Given the description of an element on the screen output the (x, y) to click on. 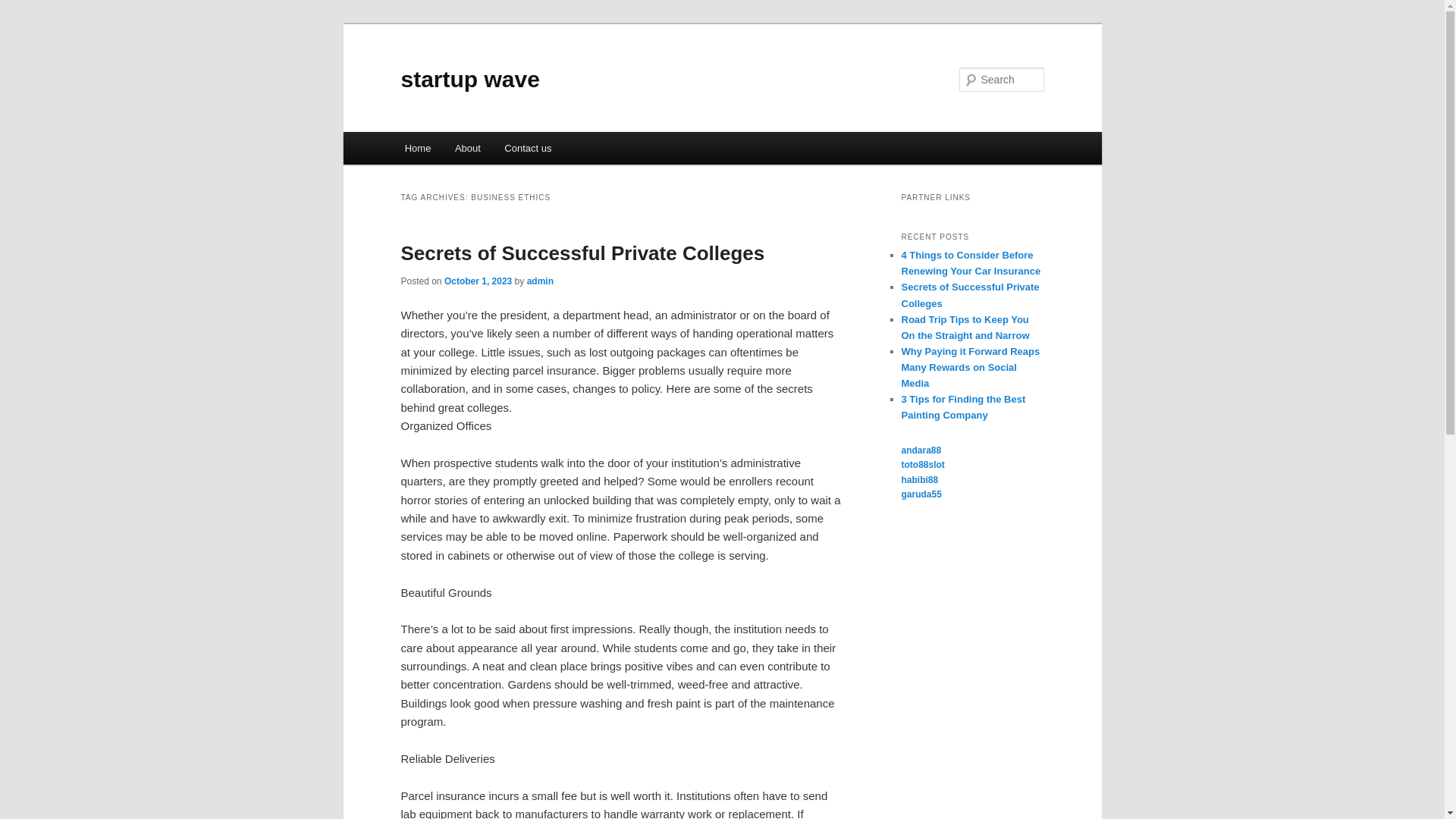
Contact us (528, 147)
4 Things to Consider Before Renewing Your Car Insurance (971, 262)
Why Paying it Forward Reaps Many Rewards on Social Media (970, 367)
4 Things to Consider Before Renewing Your Car Insurance (971, 262)
admin (540, 281)
Contact us (528, 147)
About (467, 147)
About (467, 147)
October 1, 2023 (478, 281)
startup wave (469, 78)
